Given the description of an element on the screen output the (x, y) to click on. 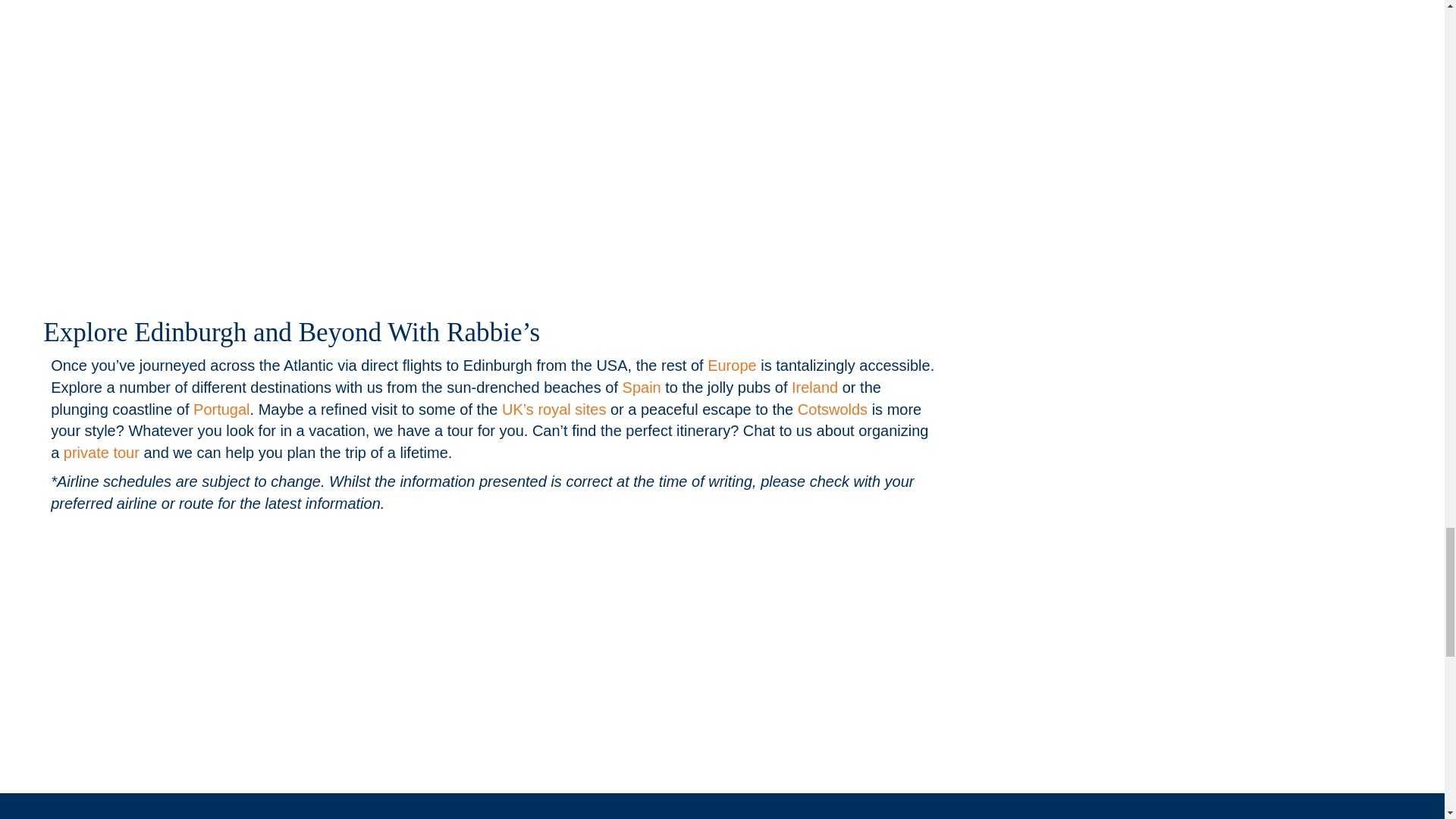
Portugal (221, 409)
Ireland (815, 387)
Europe (732, 365)
Spain (642, 387)
